Given the description of an element on the screen output the (x, y) to click on. 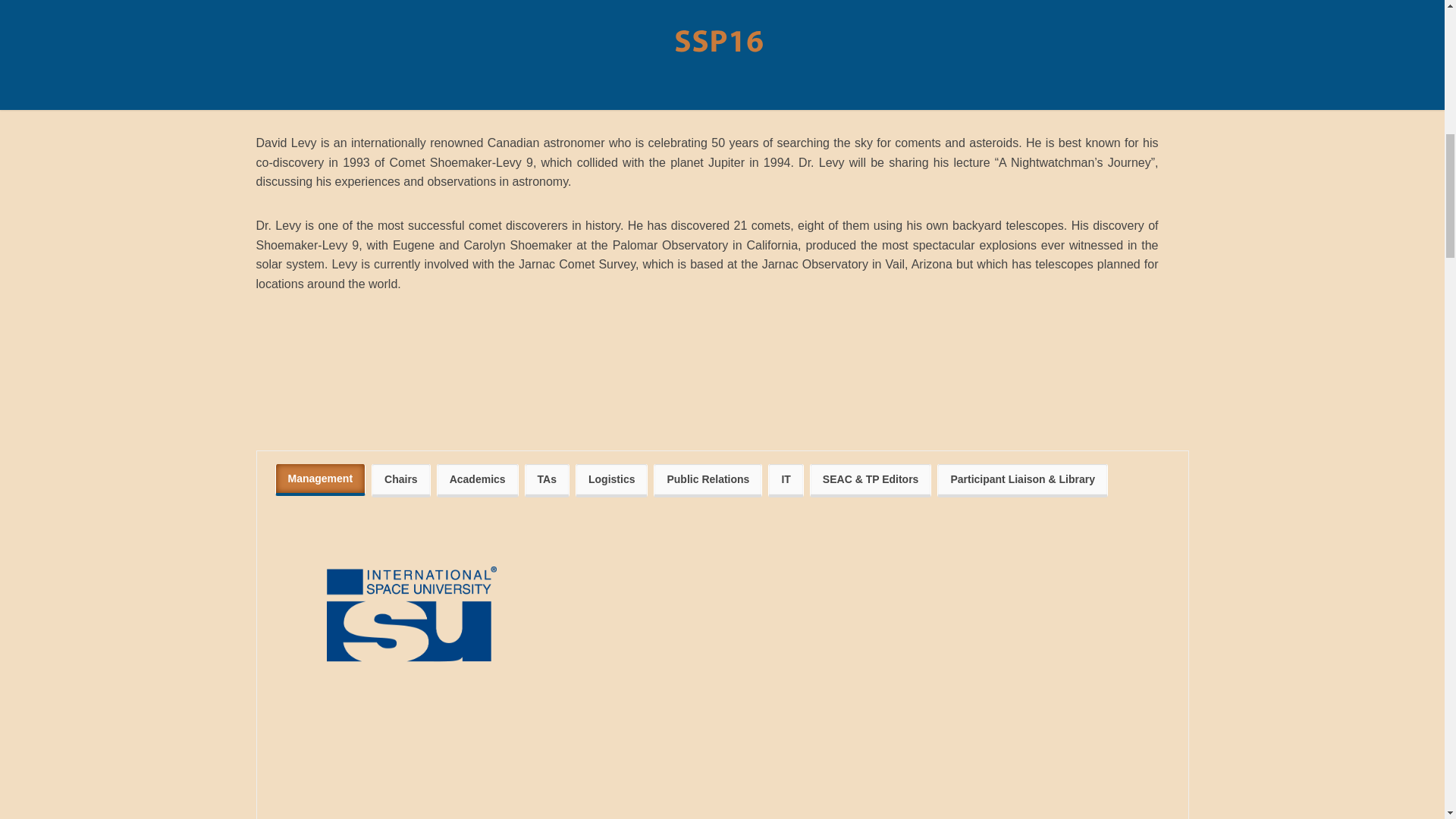
Register with EventBrite (331, 79)
Event on Facebook (318, 99)
